Given the description of an element on the screen output the (x, y) to click on. 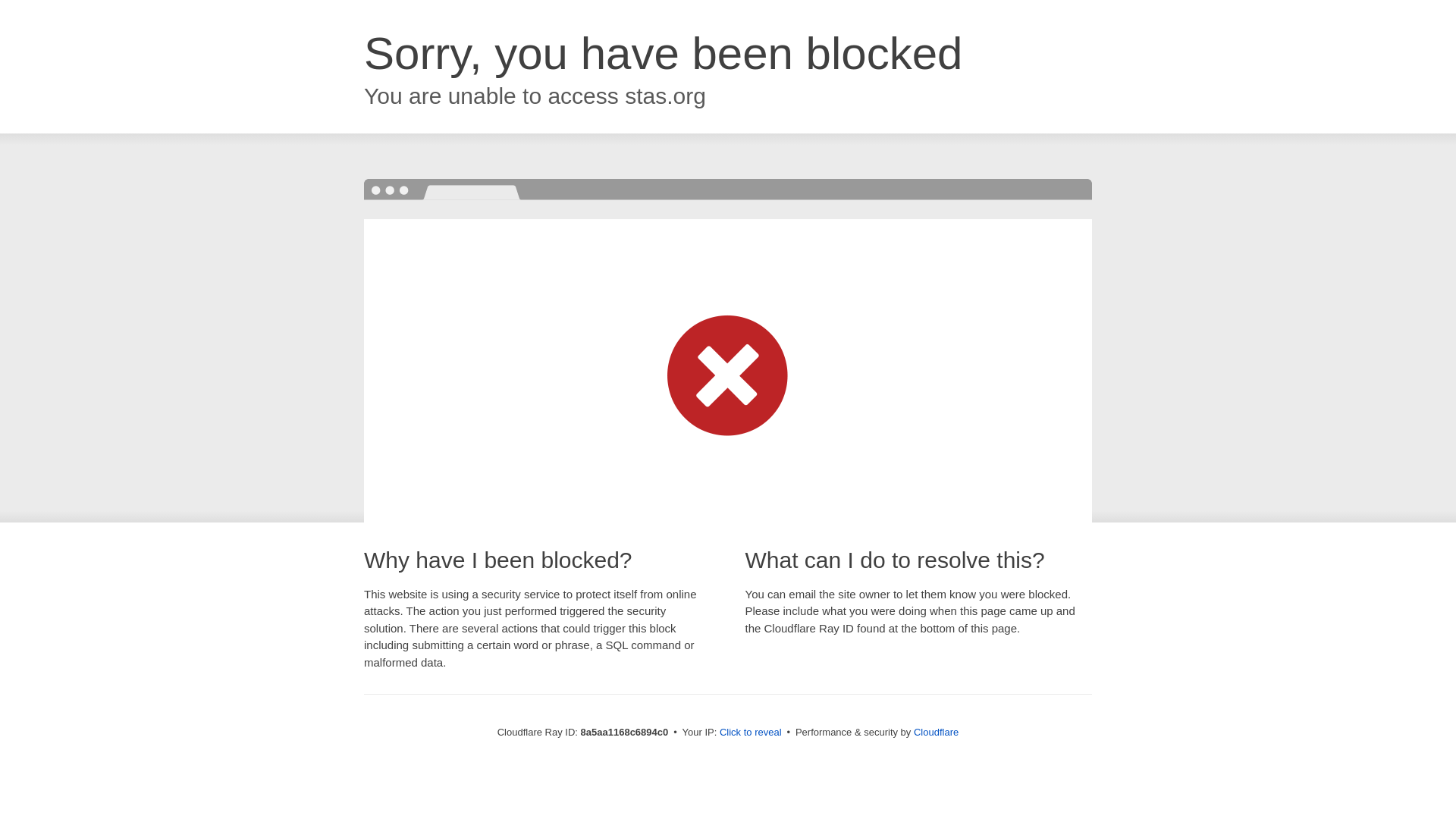
Click to reveal (750, 732)
Cloudflare (936, 731)
